Given the description of an element on the screen output the (x, y) to click on. 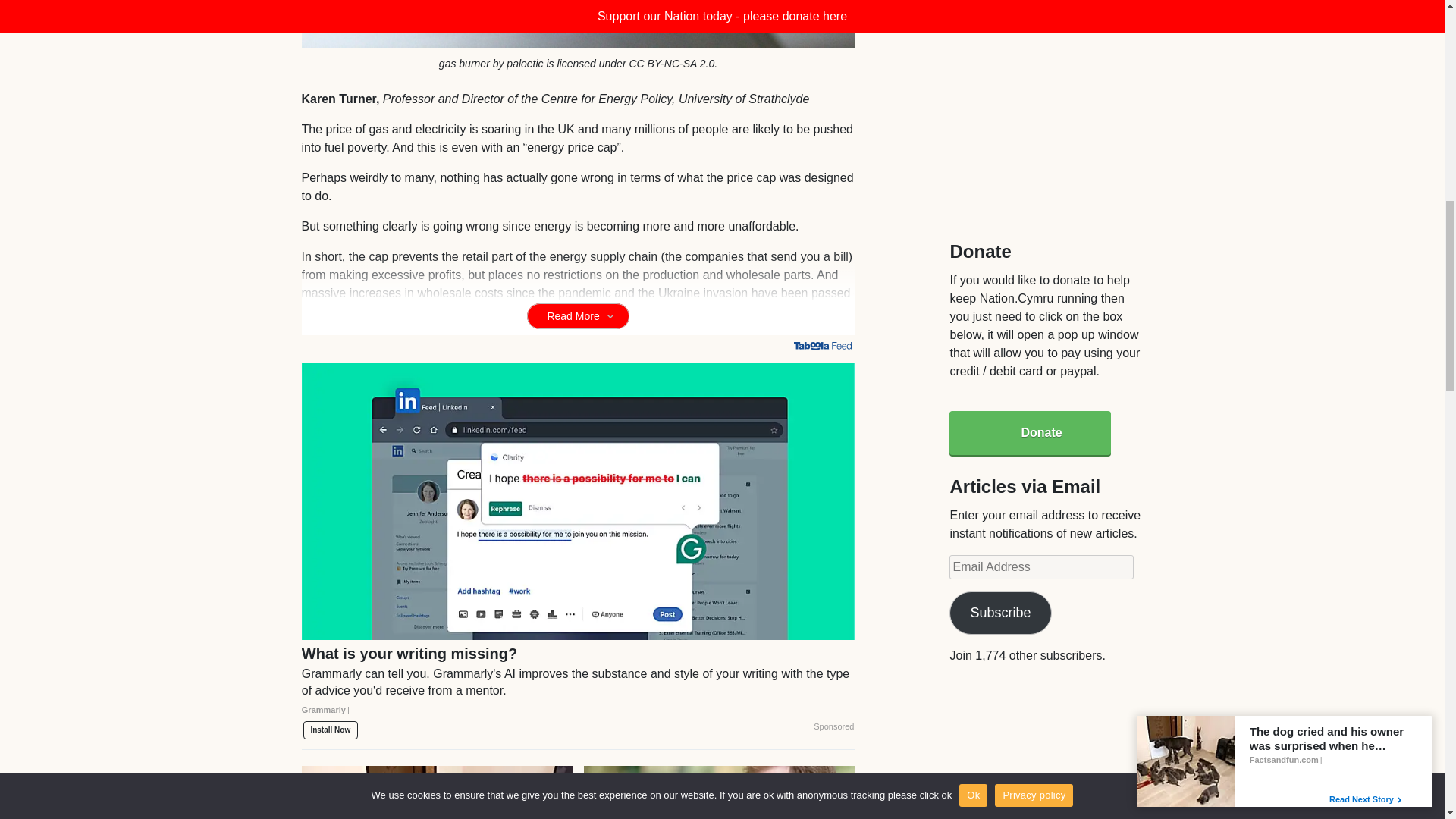
What is your writing missing? (578, 687)
Sponsored (833, 727)
Install Now (330, 730)
Read More (577, 316)
